Given the description of an element on the screen output the (x, y) to click on. 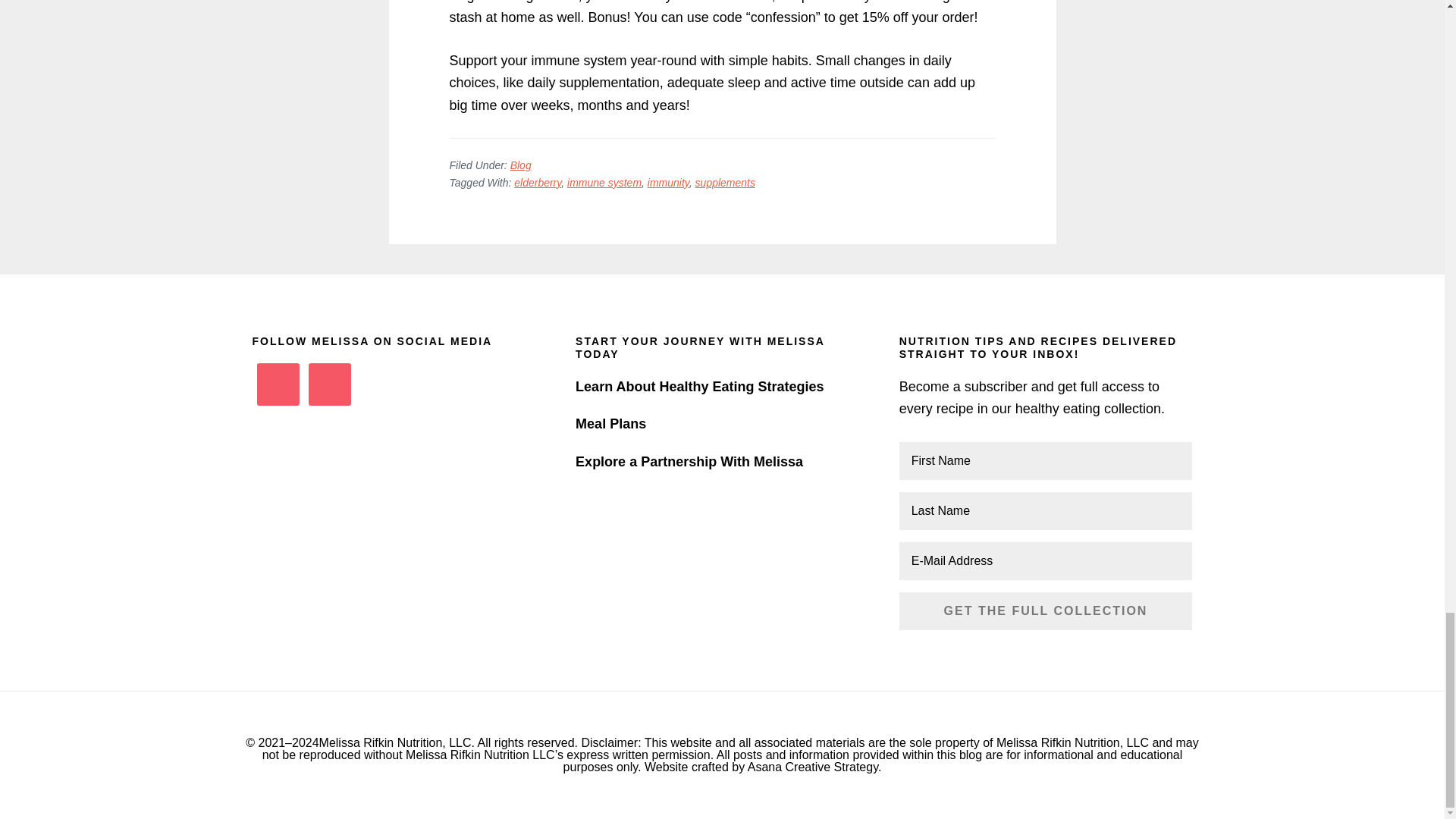
Blog (521, 164)
Learn About Healthy Eating Strategies (699, 386)
immune system (604, 182)
immunity (667, 182)
Get the Full Collection (1045, 610)
Meal Plans (610, 423)
elderberry (536, 182)
supplements (725, 182)
